Given the description of an element on the screen output the (x, y) to click on. 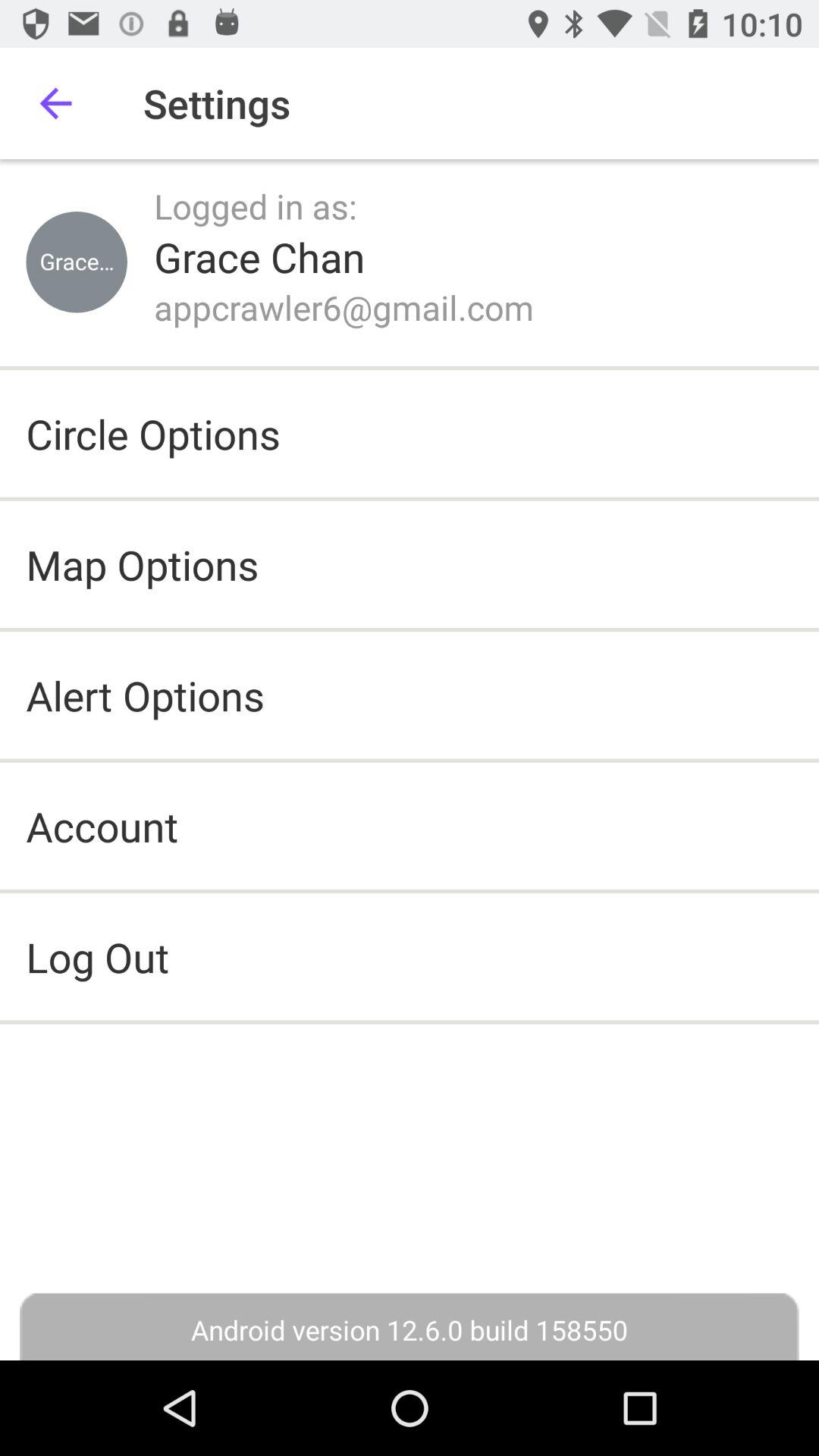
press icon below logged in as: icon (259, 256)
